Given the description of an element on the screen output the (x, y) to click on. 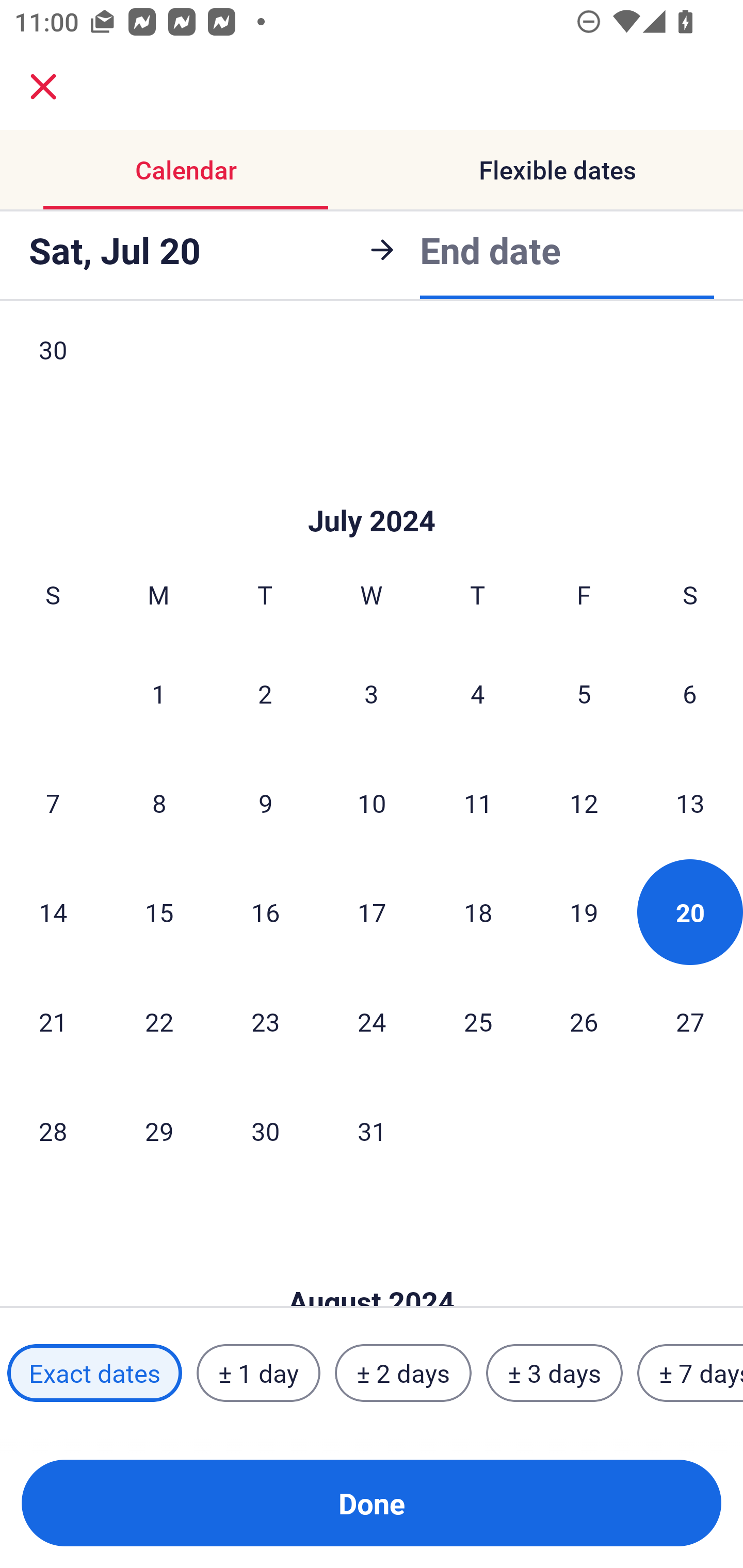
close. (43, 86)
Flexible dates (557, 170)
End date (489, 249)
30 Sunday, June 30, 2024 (53, 366)
Skip to Done (371, 489)
1 Monday, July 1, 2024 (158, 693)
2 Tuesday, July 2, 2024 (264, 693)
3 Wednesday, July 3, 2024 (371, 693)
4 Thursday, July 4, 2024 (477, 693)
5 Friday, July 5, 2024 (583, 693)
6 Saturday, July 6, 2024 (689, 693)
7 Sunday, July 7, 2024 (53, 802)
8 Monday, July 8, 2024 (159, 802)
9 Tuesday, July 9, 2024 (265, 802)
10 Wednesday, July 10, 2024 (371, 802)
11 Thursday, July 11, 2024 (477, 802)
12 Friday, July 12, 2024 (584, 802)
13 Saturday, July 13, 2024 (690, 802)
14 Sunday, July 14, 2024 (53, 911)
15 Monday, July 15, 2024 (159, 911)
16 Tuesday, July 16, 2024 (265, 911)
17 Wednesday, July 17, 2024 (371, 911)
18 Thursday, July 18, 2024 (477, 911)
19 Friday, July 19, 2024 (584, 911)
21 Sunday, July 21, 2024 (53, 1021)
22 Monday, July 22, 2024 (159, 1021)
23 Tuesday, July 23, 2024 (265, 1021)
24 Wednesday, July 24, 2024 (371, 1021)
25 Thursday, July 25, 2024 (477, 1021)
26 Friday, July 26, 2024 (584, 1021)
27 Saturday, July 27, 2024 (690, 1021)
28 Sunday, July 28, 2024 (53, 1130)
29 Monday, July 29, 2024 (159, 1130)
30 Tuesday, July 30, 2024 (265, 1130)
31 Wednesday, July 31, 2024 (371, 1130)
Exact dates (94, 1372)
± 1 day (258, 1372)
± 2 days (403, 1372)
± 3 days (553, 1372)
± 7 days (690, 1372)
Done (371, 1502)
